Given the description of an element on the screen output the (x, y) to click on. 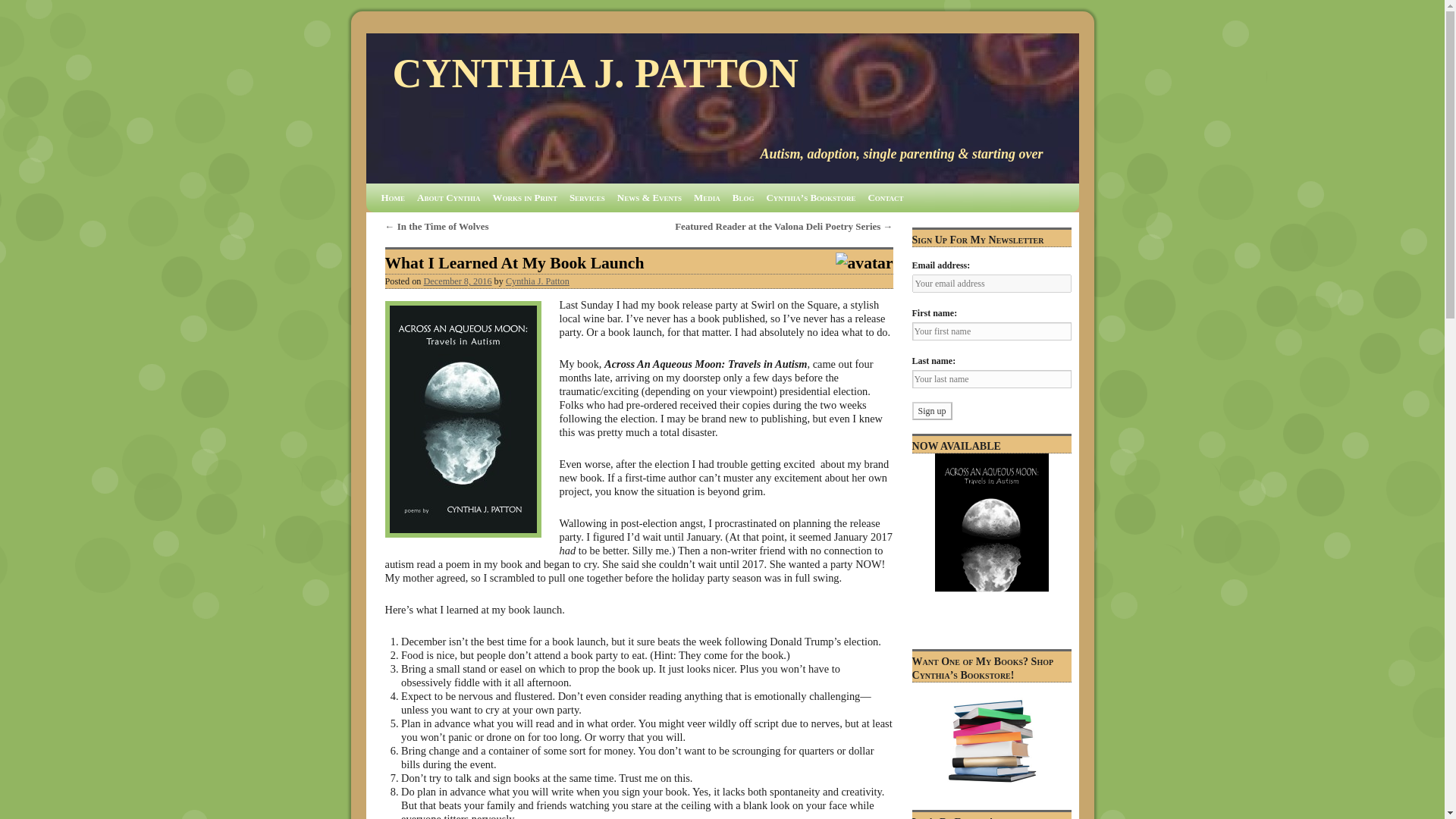
Home (392, 197)
CYNTHIA J. PATTON (596, 73)
View all posts by Cynthia J. Patton (537, 281)
Media (706, 197)
Contact (884, 197)
December 8, 2016 (457, 281)
What I Learned At My Book Launch (515, 262)
About Cynthia (448, 197)
Cynthia J. Patton (537, 281)
CYNTHIA J. PATTON (596, 73)
